Given the description of an element on the screen output the (x, y) to click on. 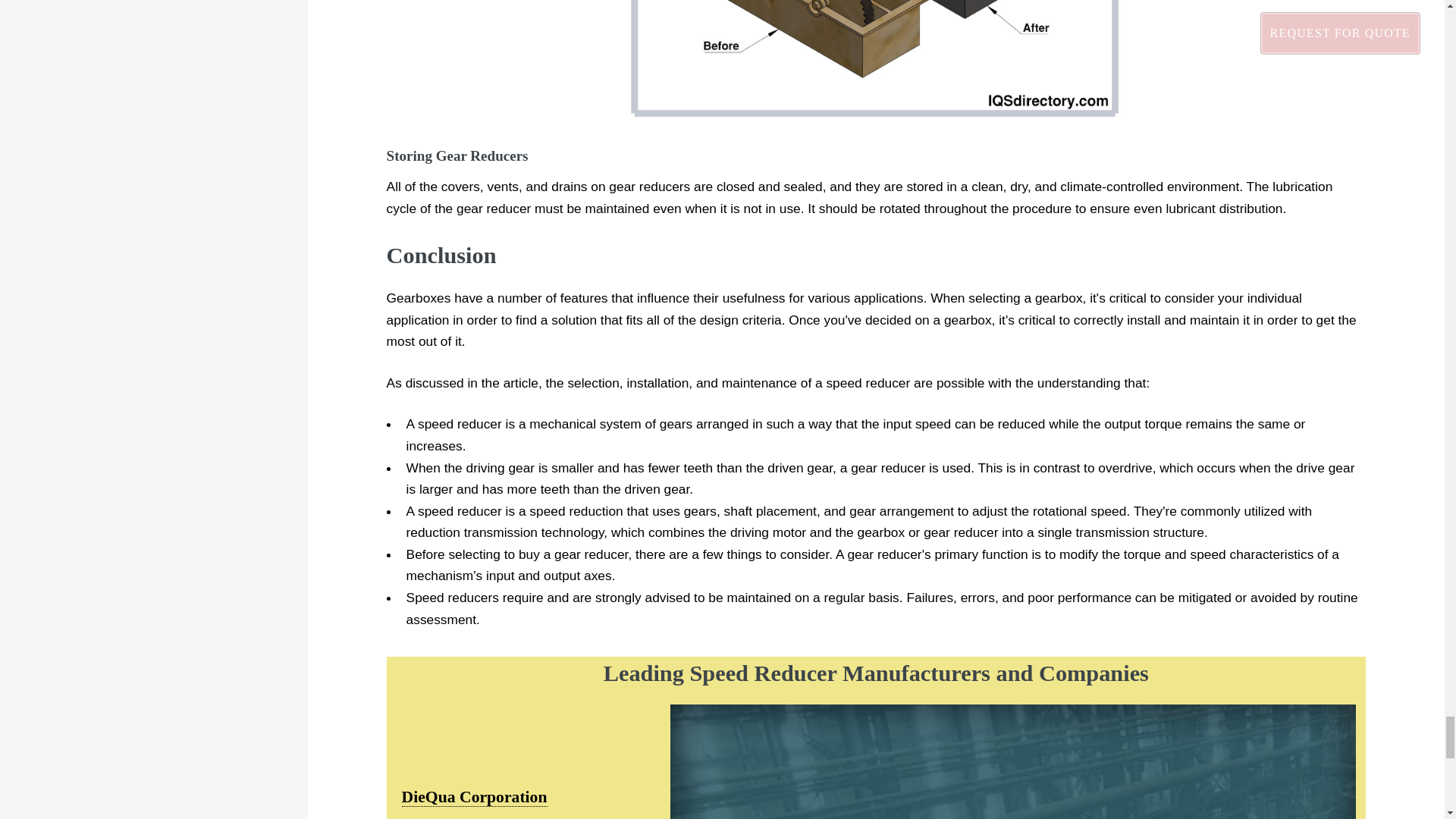
DieQua Corporation (474, 796)
